Given the description of an element on the screen output the (x, y) to click on. 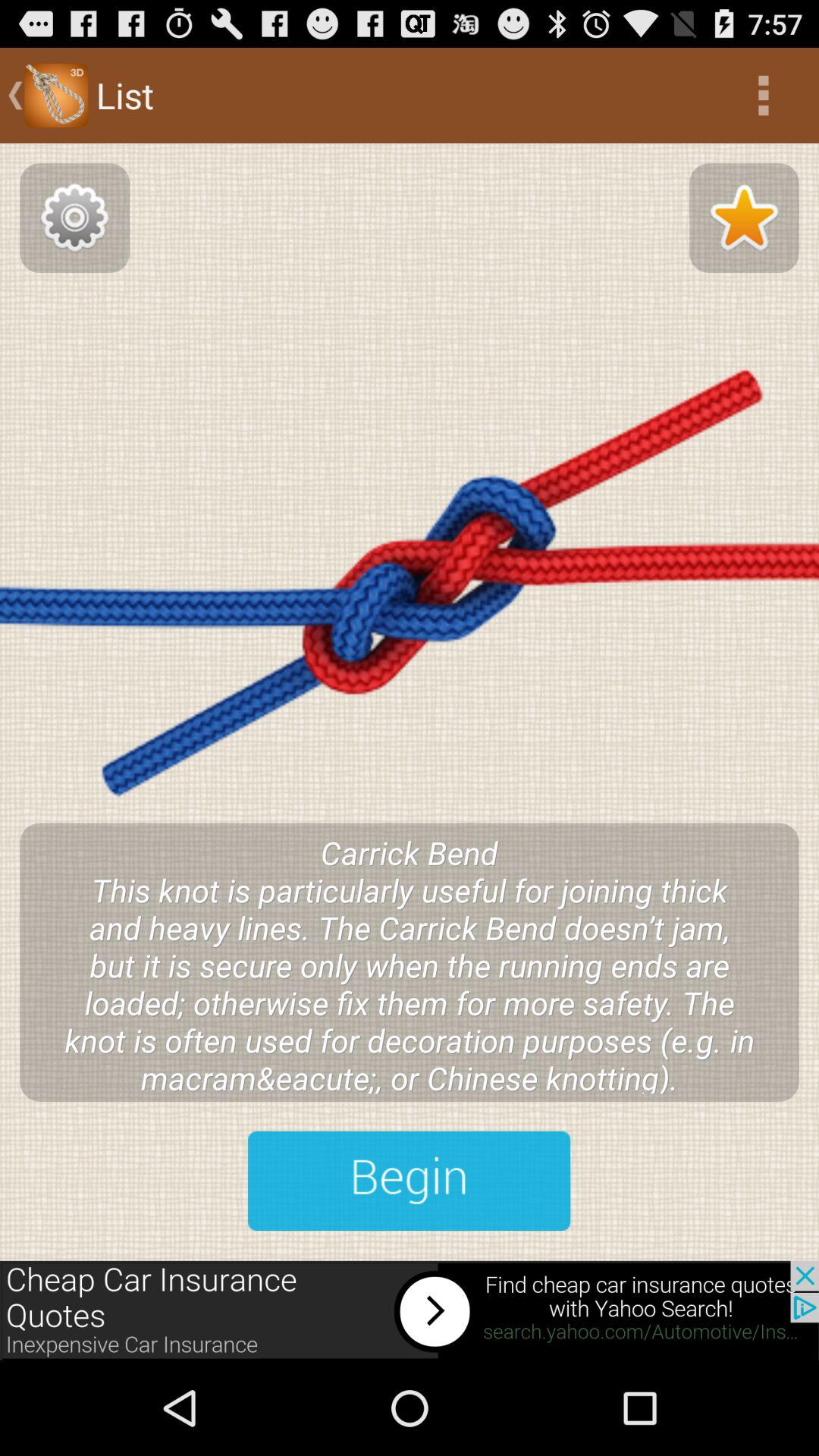
advertisement (409, 1310)
